Given the description of an element on the screen output the (x, y) to click on. 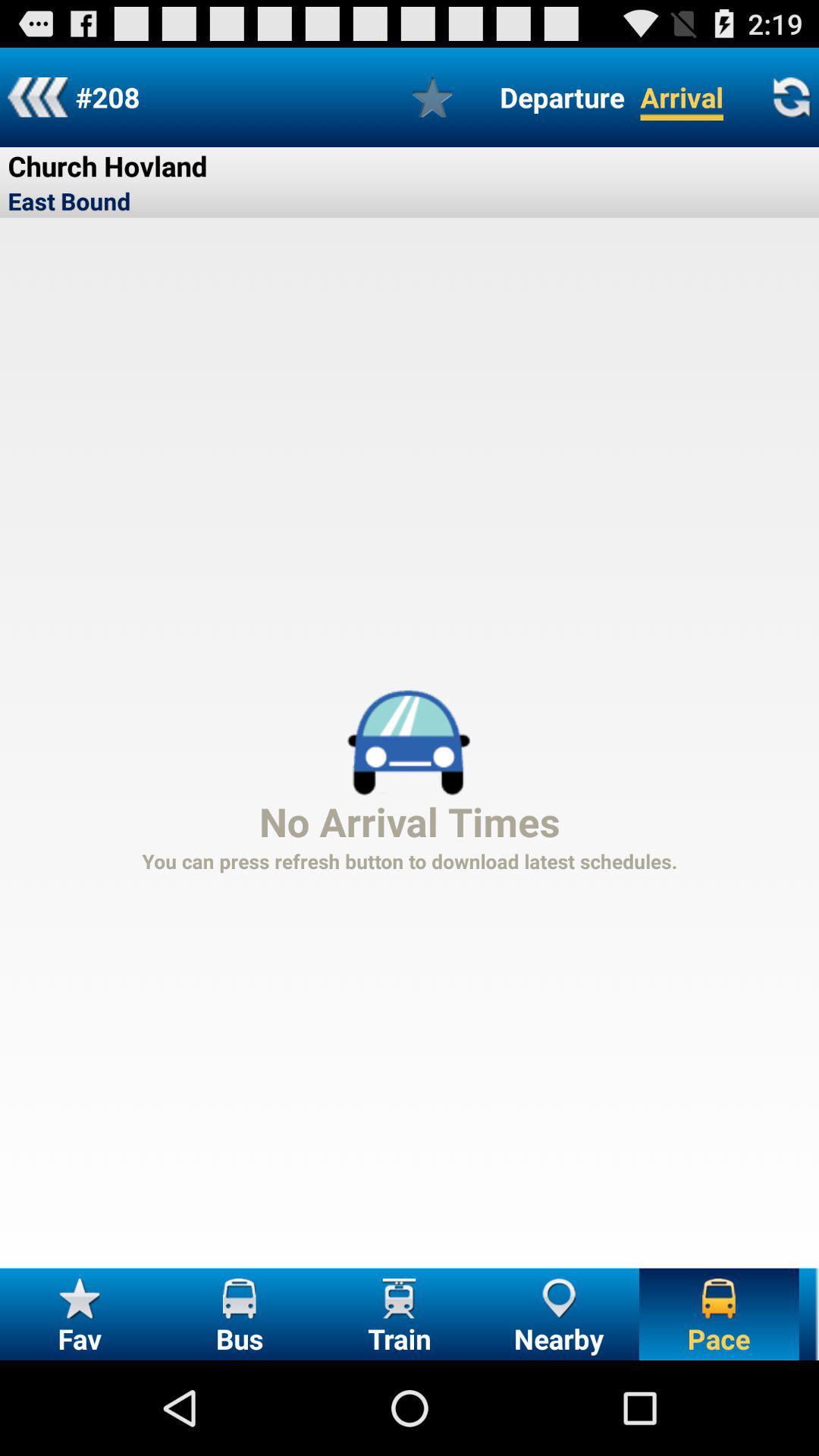
go back (37, 97)
